Given the description of an element on the screen output the (x, y) to click on. 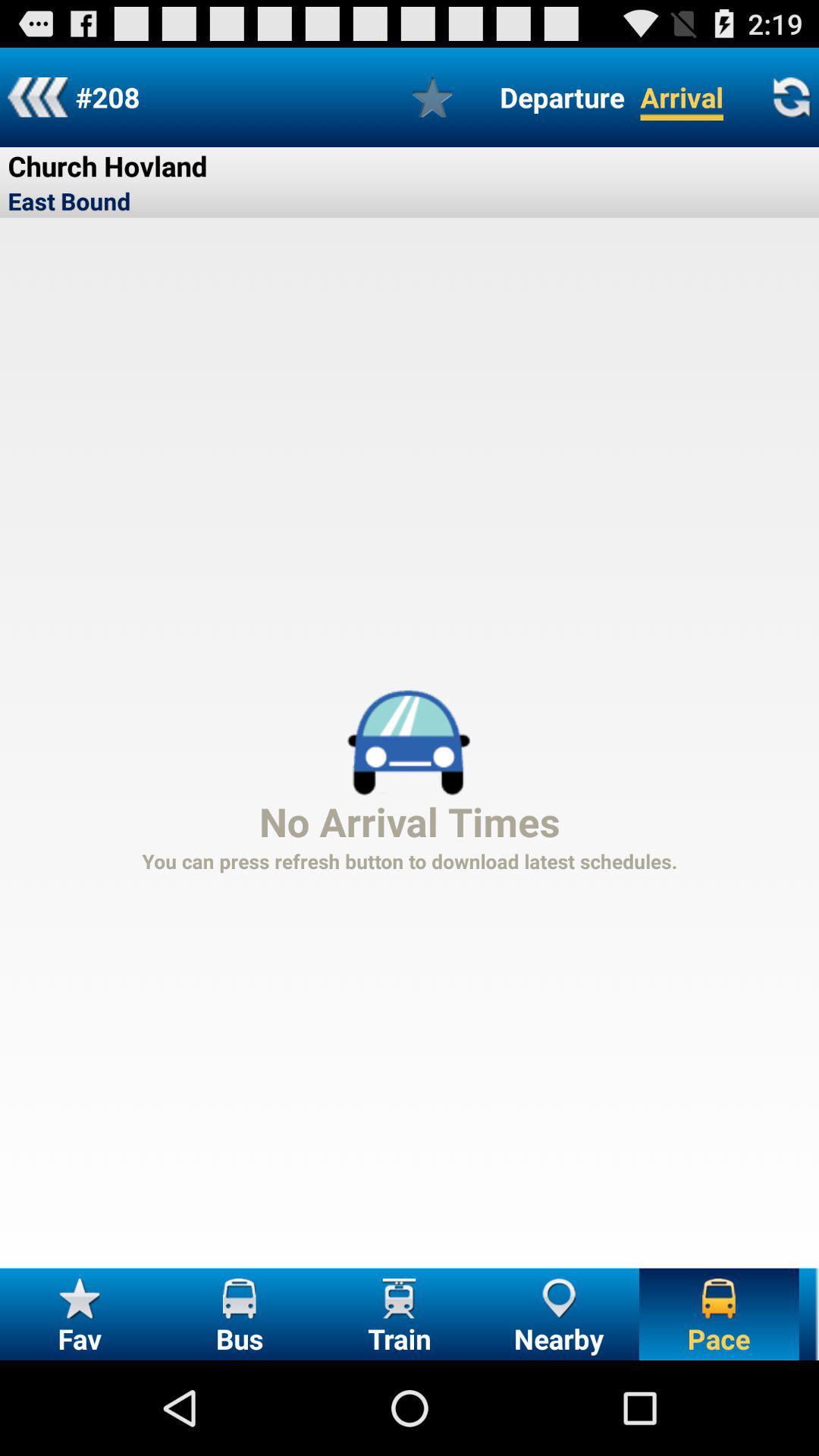
go back (37, 97)
